Given the description of an element on the screen output the (x, y) to click on. 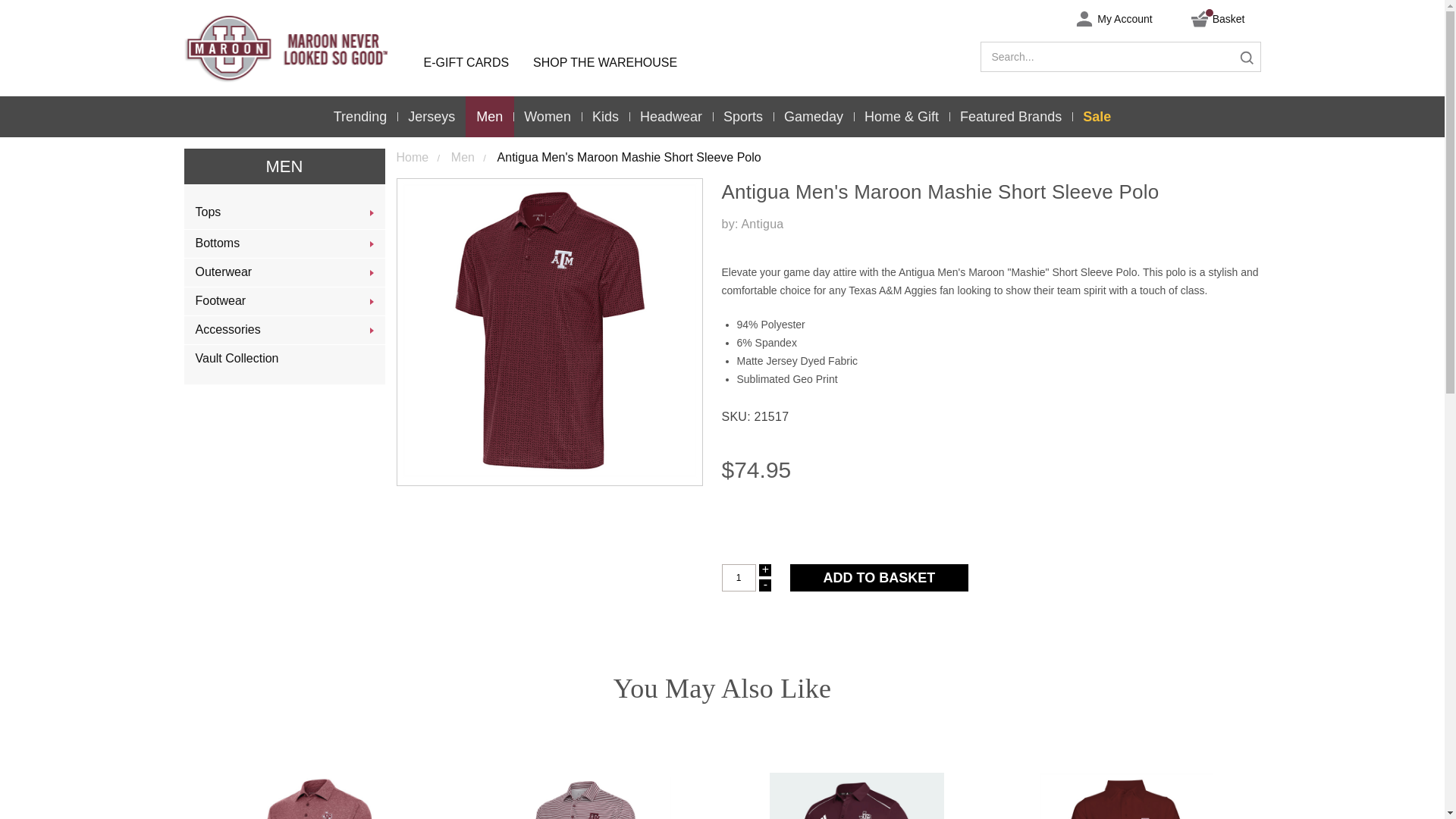
Add To Basket (879, 577)
My Account (1106, 18)
Maroon U (296, 48)
Jerseys (431, 116)
Basket (1211, 18)
Trending (360, 116)
Men (489, 116)
E-GIFT CARDS (465, 62)
1 (738, 577)
SHOP THE WAREHOUSE (604, 62)
